Given the description of an element on the screen output the (x, y) to click on. 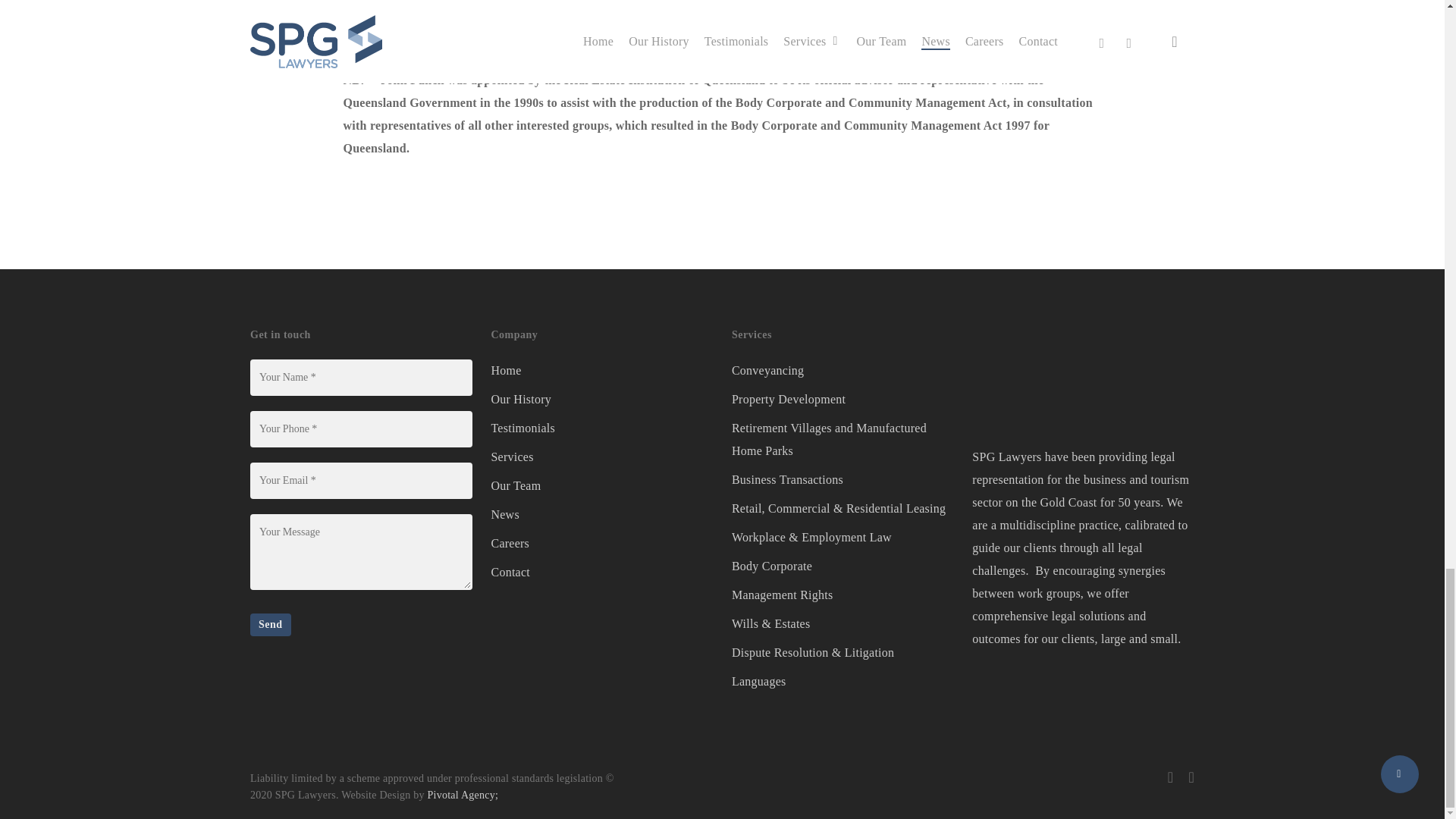
Send (270, 624)
Send (270, 624)
Pivotal Agency (463, 794)
